Given the description of an element on the screen output the (x, y) to click on. 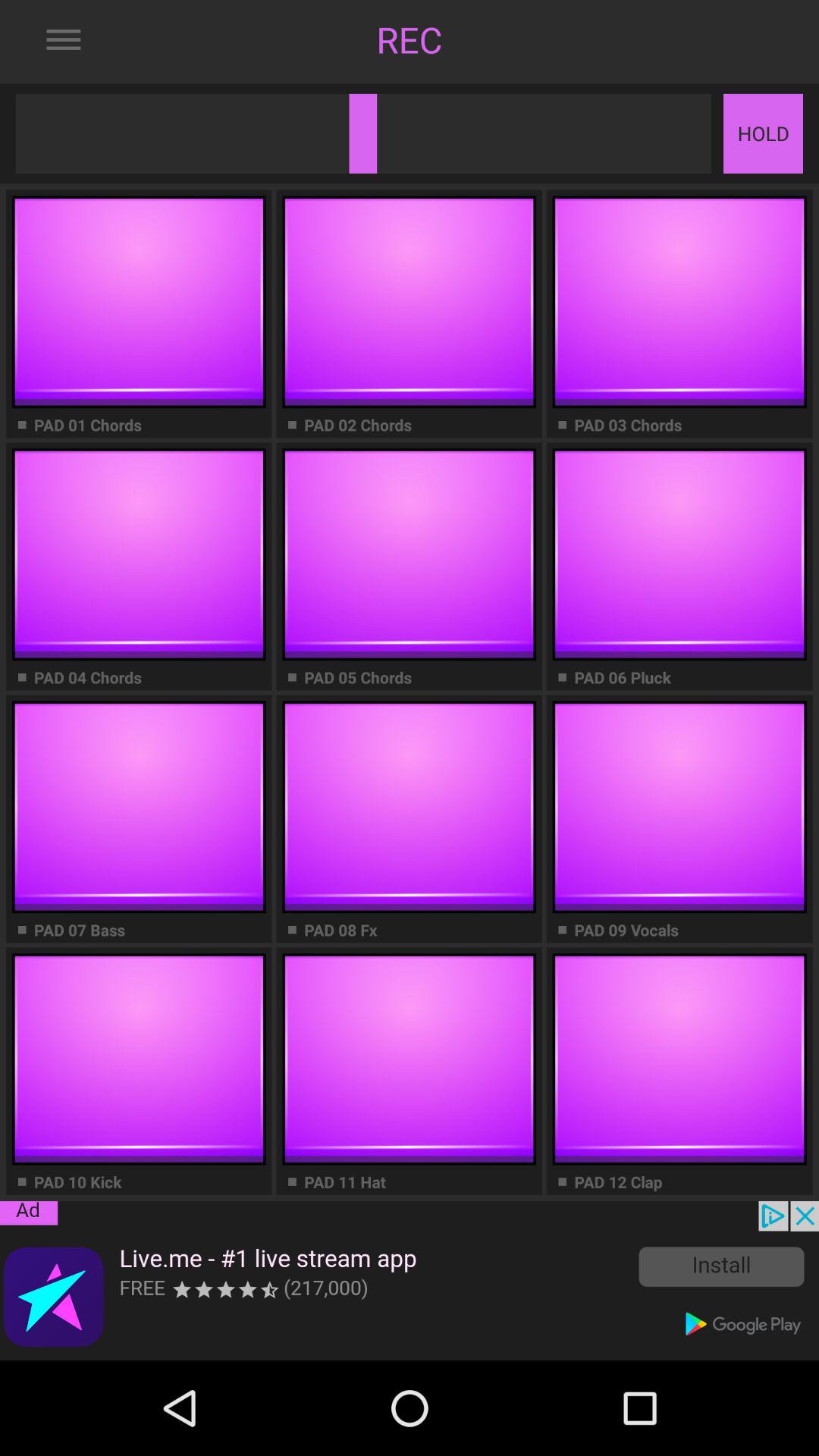
click on hold button (763, 133)
